Given the description of an element on the screen output the (x, y) to click on. 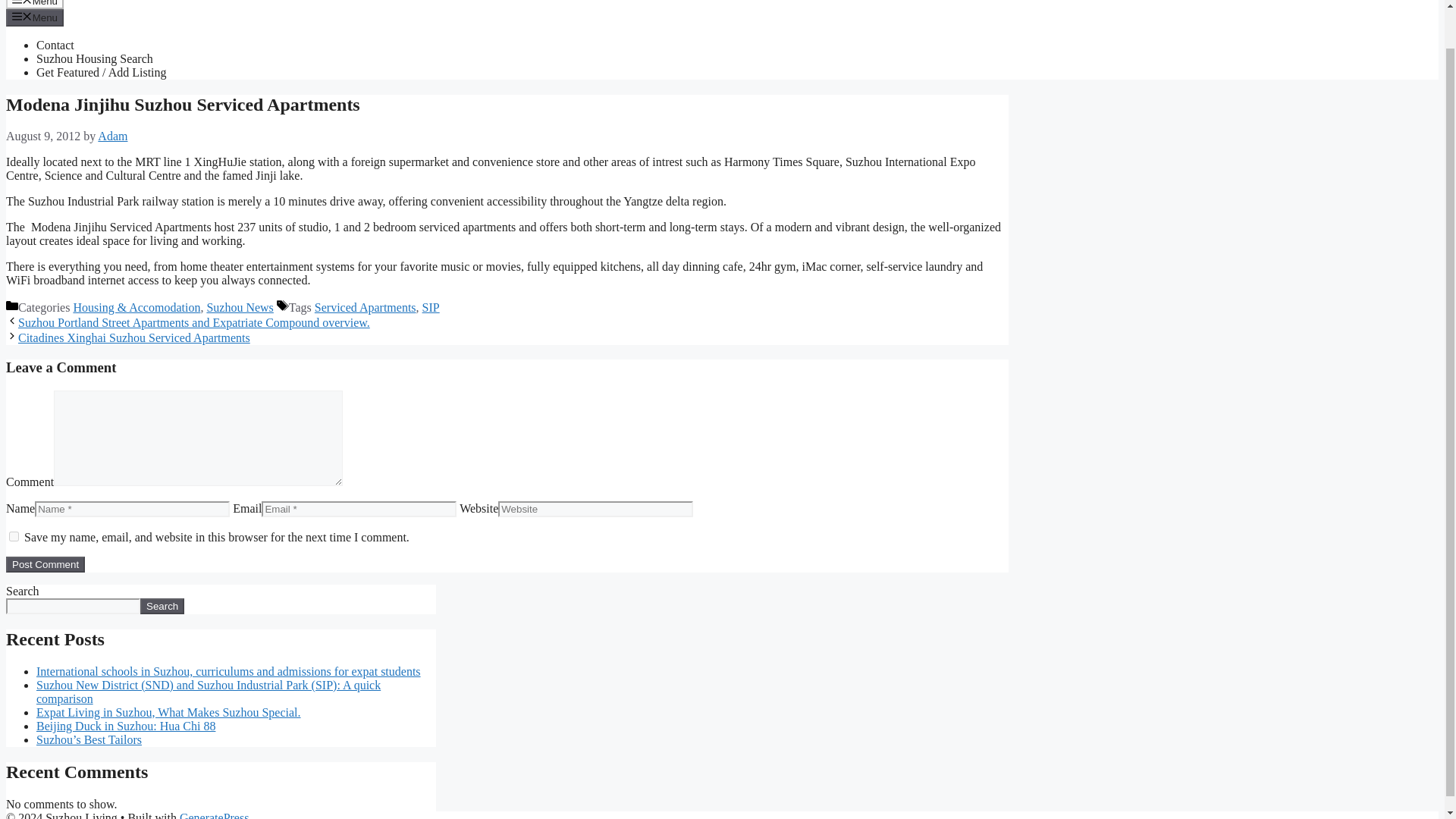
Menu (34, 17)
Citadines Xinghai Suzhou Serviced Apartments (133, 337)
Suzhou Housing Search (94, 58)
Menu (34, 4)
Post Comment (44, 564)
yes (13, 536)
Adam (112, 135)
Expat Living in Suzhou, What Makes Suzhou Special. (168, 712)
Search (161, 606)
View all posts by Adam (112, 135)
